Given the description of an element on the screen output the (x, y) to click on. 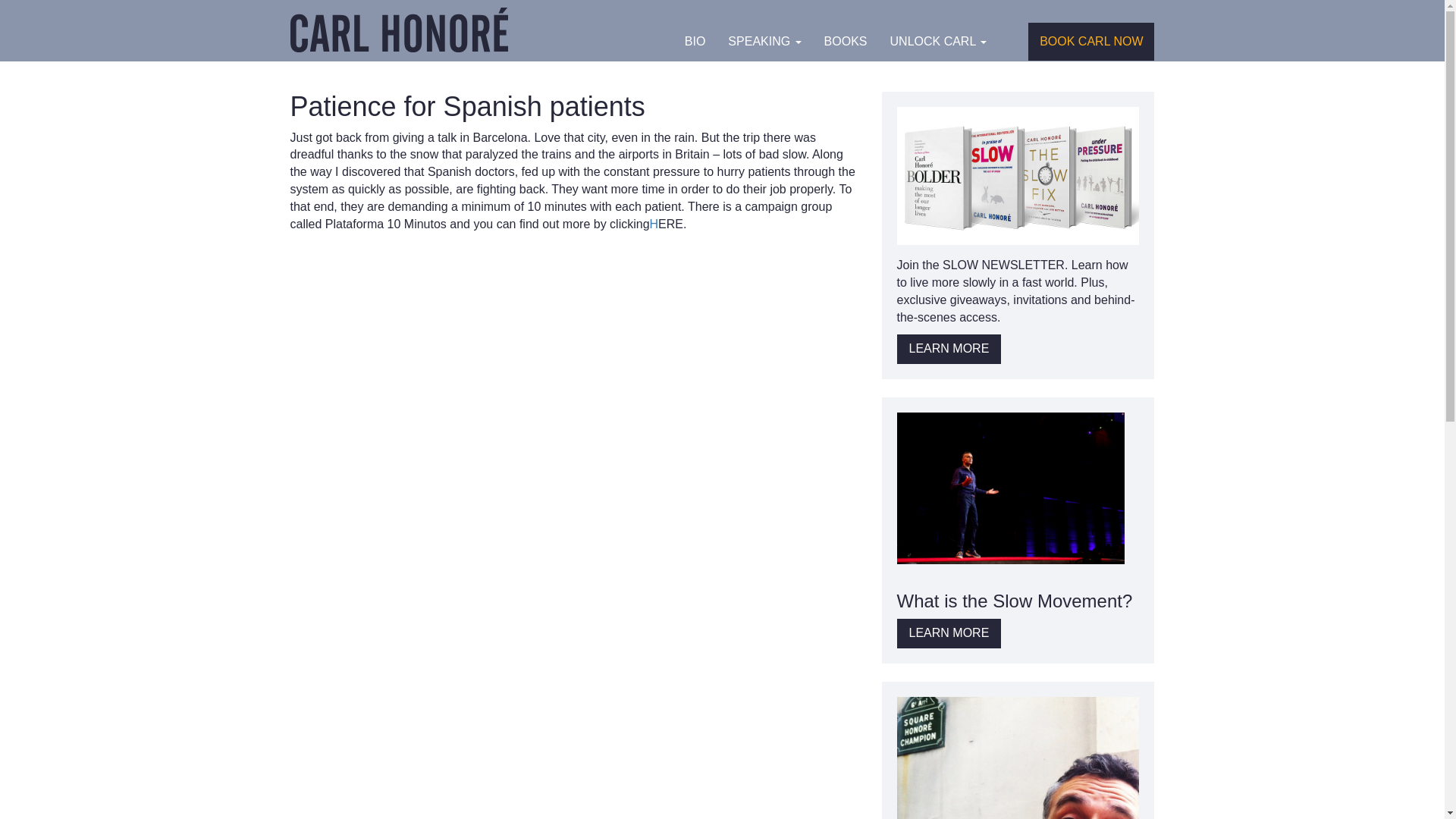
UNLOCK CARL (938, 41)
BOOK CARL NOW (1090, 41)
BOOKS (845, 41)
LEARN MORE (948, 348)
Book Carl Now (1090, 41)
BIO (694, 41)
LEARN MORE (948, 633)
Unlock Carl (938, 41)
HERE (654, 223)
What is the Slow Movement? (1014, 599)
SPEAKING (764, 41)
Speaking (764, 41)
H (654, 223)
Books (845, 41)
BIO (694, 41)
